Given the description of an element on the screen output the (x, y) to click on. 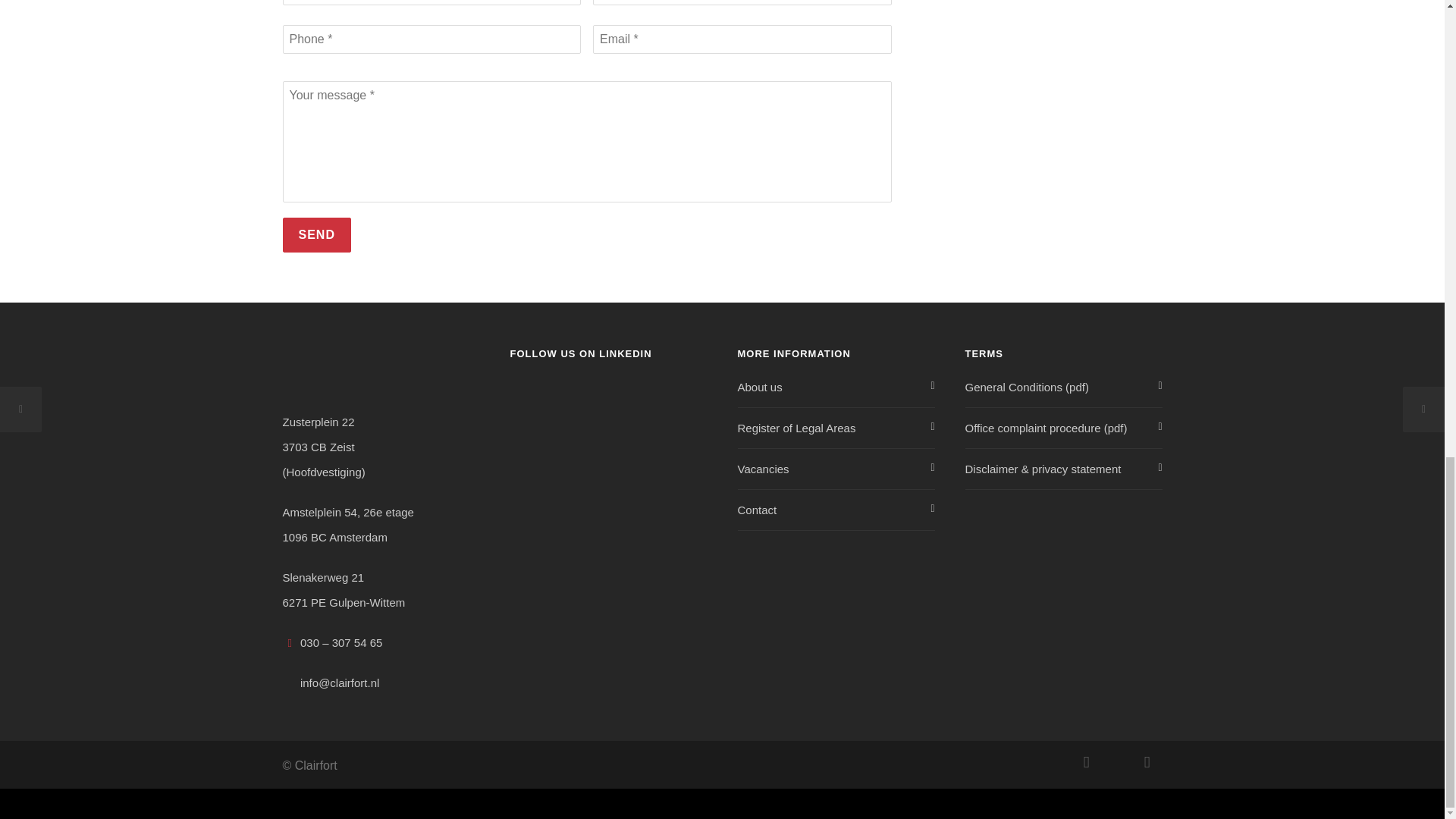
LinkedIn (1115, 761)
Facebook (1055, 761)
Instagram (1085, 761)
Twitter (1146, 761)
Send (316, 234)
